Given the description of an element on the screen output the (x, y) to click on. 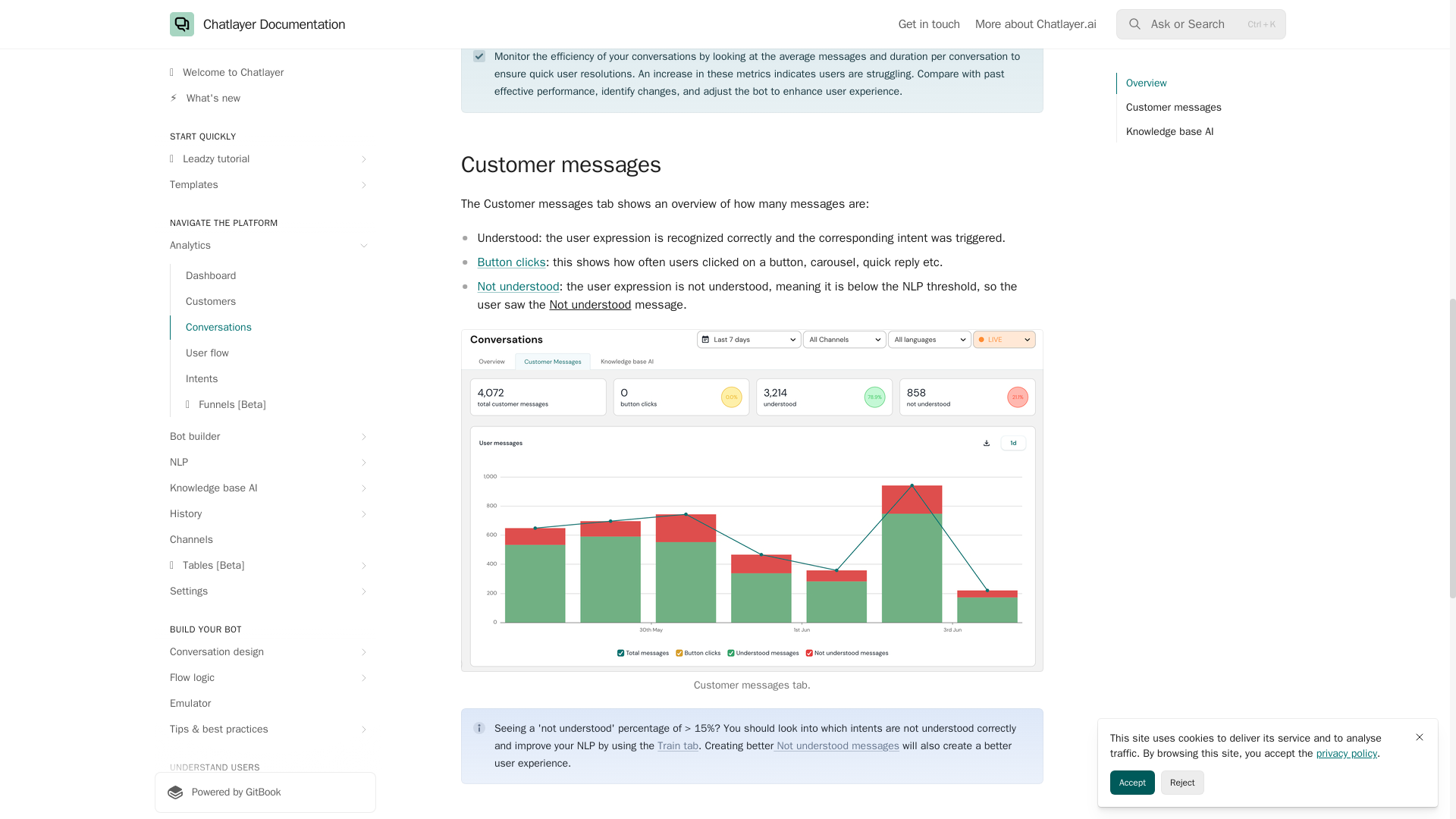
Broken link (589, 304)
